Given the description of an element on the screen output the (x, y) to click on. 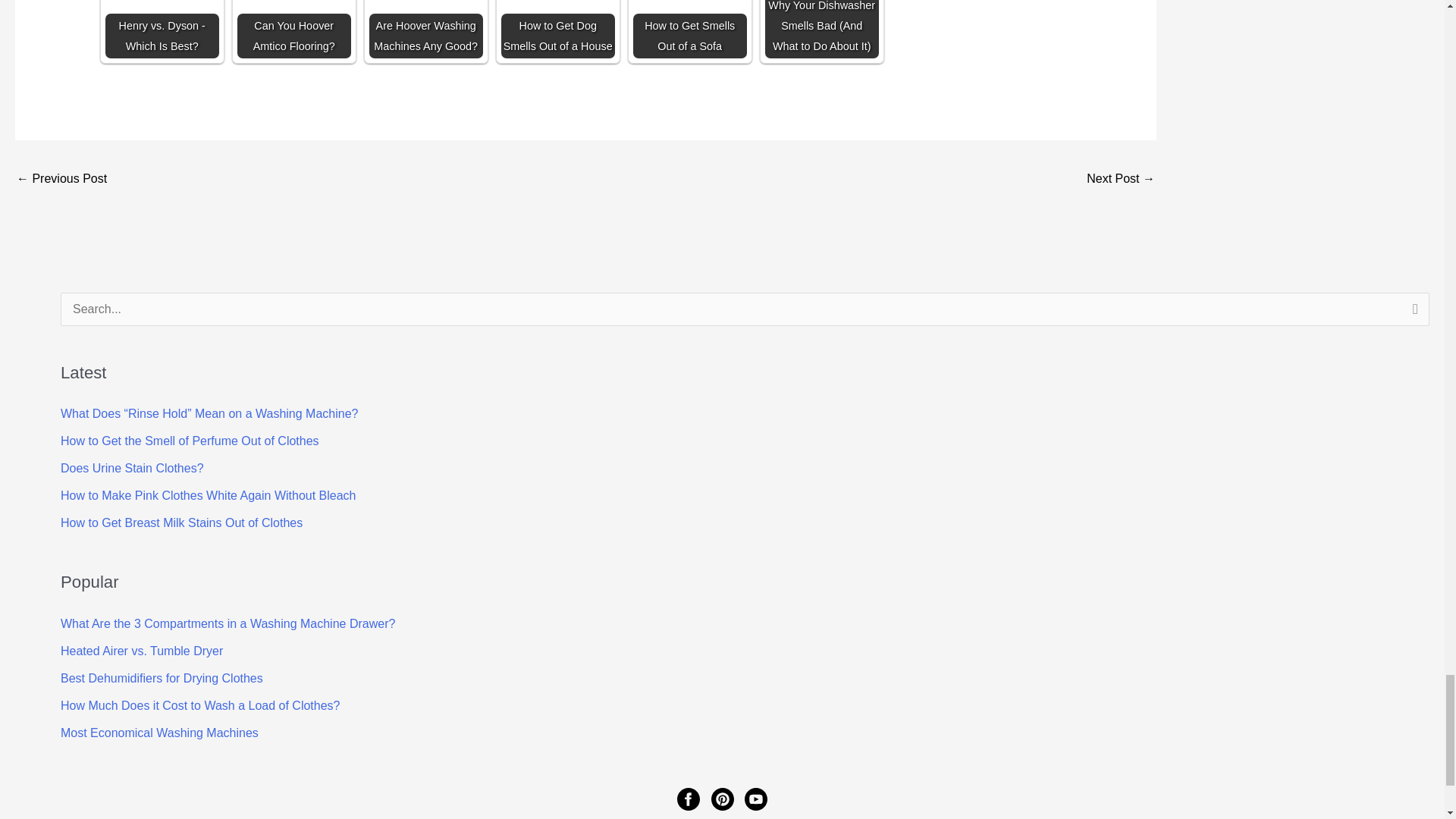
How to Get Smells Out of a Sofa (689, 29)
Does Urine Stain Clothes? (132, 468)
How to Remove Limescale from Glass (61, 180)
Henry vs. Dyson - Which Is Best? (161, 29)
How to Get the Smell of Perfume Out of Clothes (189, 440)
Can You Hoover Amtico Flooring? (293, 29)
Are Hoover Washing Machines Any Good? (426, 29)
How to Get Dog Smells Out of a House (557, 29)
Is White Vinegar the Same as White Wine Vinegar? (1120, 180)
